Given the description of an element on the screen output the (x, y) to click on. 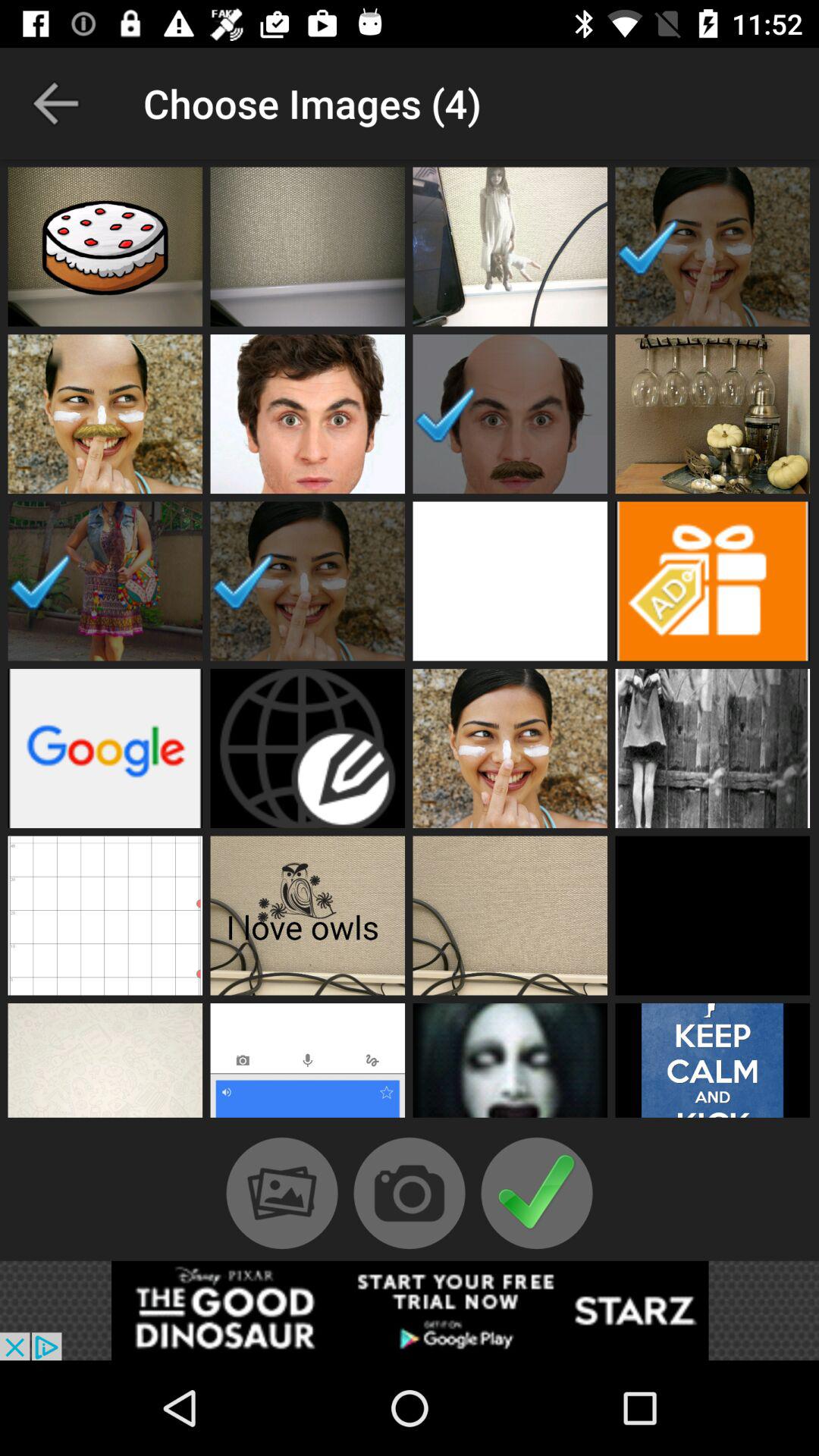
choose image (509, 580)
